Given the description of an element on the screen output the (x, y) to click on. 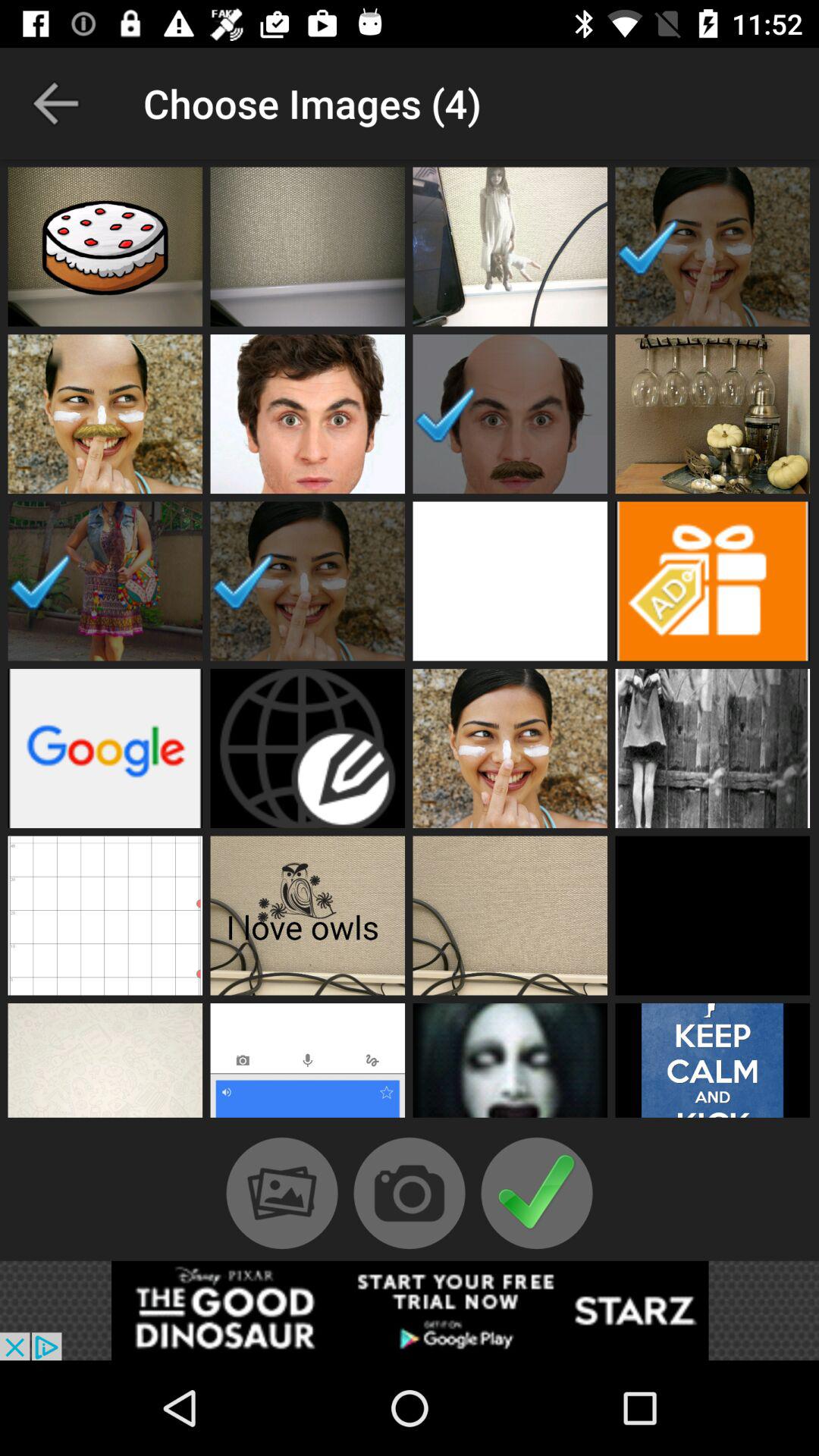
choose image (509, 580)
